Given the description of an element on the screen output the (x, y) to click on. 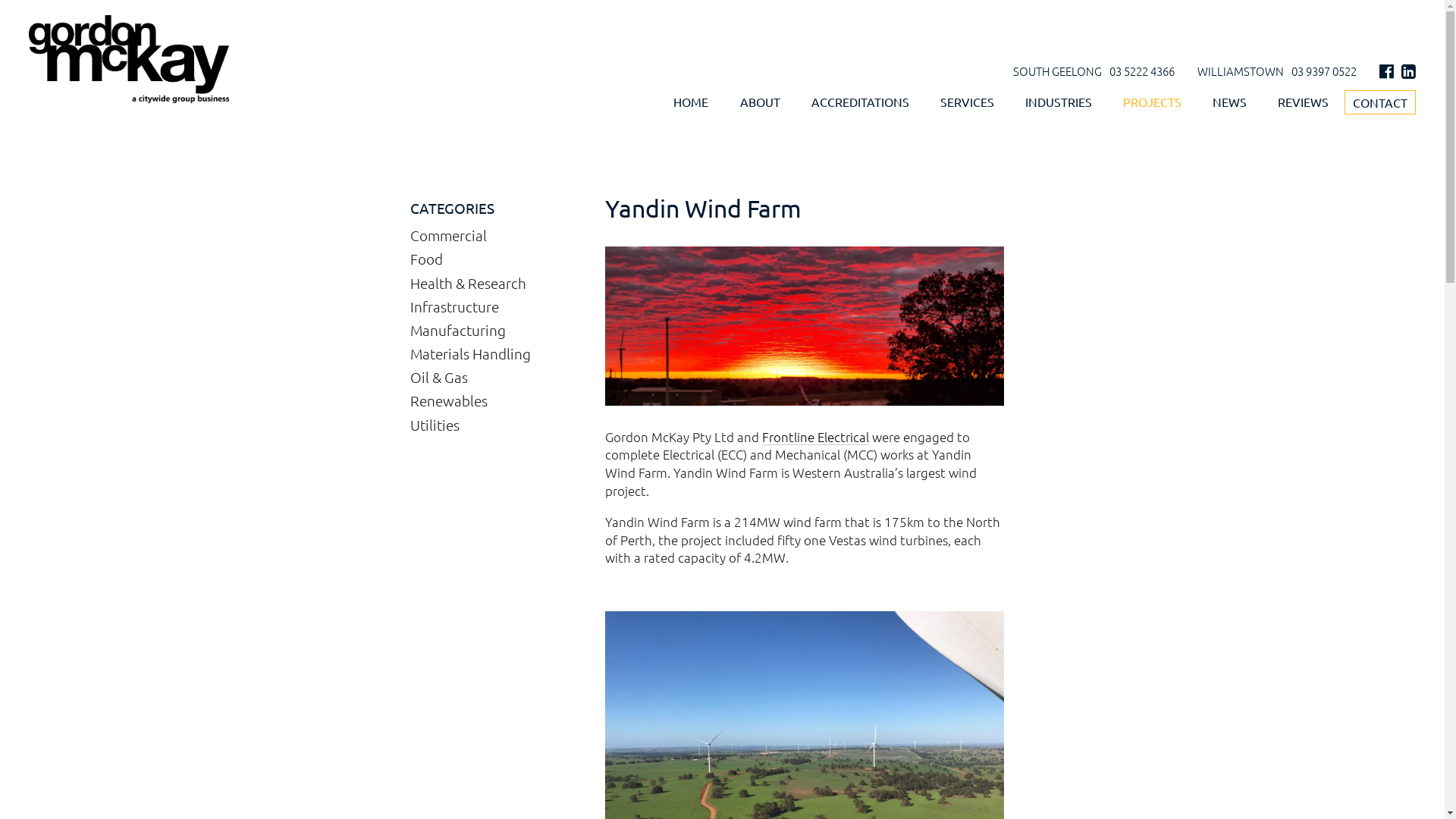
SERVICES Element type: text (967, 102)
HOME Element type: text (690, 102)
Infrastructure Element type: text (454, 306)
Commercial Element type: text (448, 234)
Food Element type: text (426, 258)
Manufacturing Element type: text (457, 329)
INDUSTRIES Element type: text (1058, 102)
Renewables Element type: text (448, 400)
Utilities Element type: text (434, 424)
NEWS Element type: text (1229, 102)
ABOUT Element type: text (760, 102)
Frontline Electrical Element type: text (815, 436)
CONTACT Element type: text (1379, 102)
ACCREDITATIONS Element type: text (860, 102)
Health & Research Element type: text (468, 282)
PROJECTS Element type: text (1152, 102)
Materials Handling Element type: text (470, 353)
REVIEWS Element type: text (1302, 102)
Oil & Gas Element type: text (438, 376)
